Given the description of an element on the screen output the (x, y) to click on. 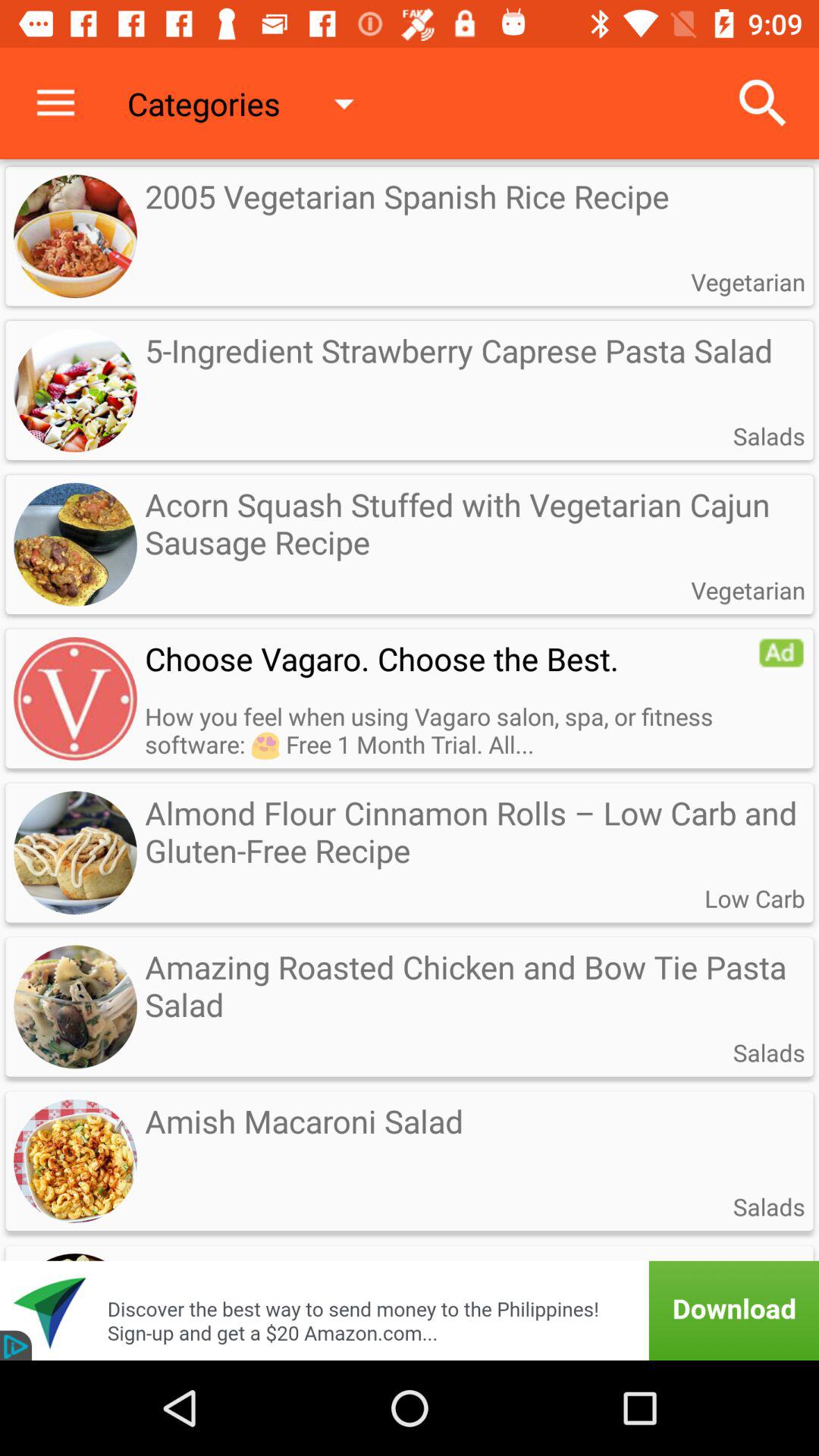
advertisement (409, 1290)
